Given the description of an element on the screen output the (x, y) to click on. 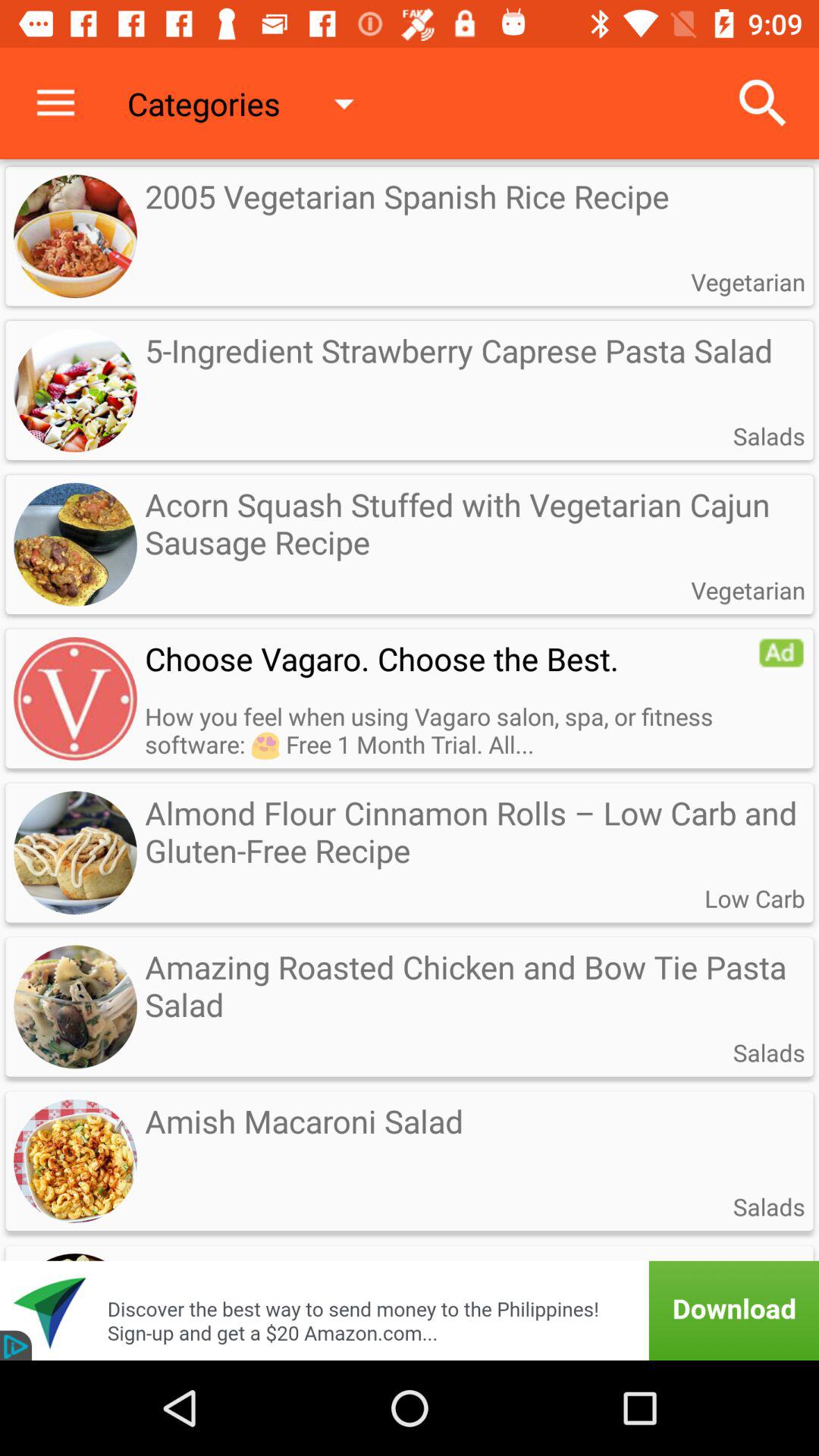
advertisement (409, 1290)
